Given the description of an element on the screen output the (x, y) to click on. 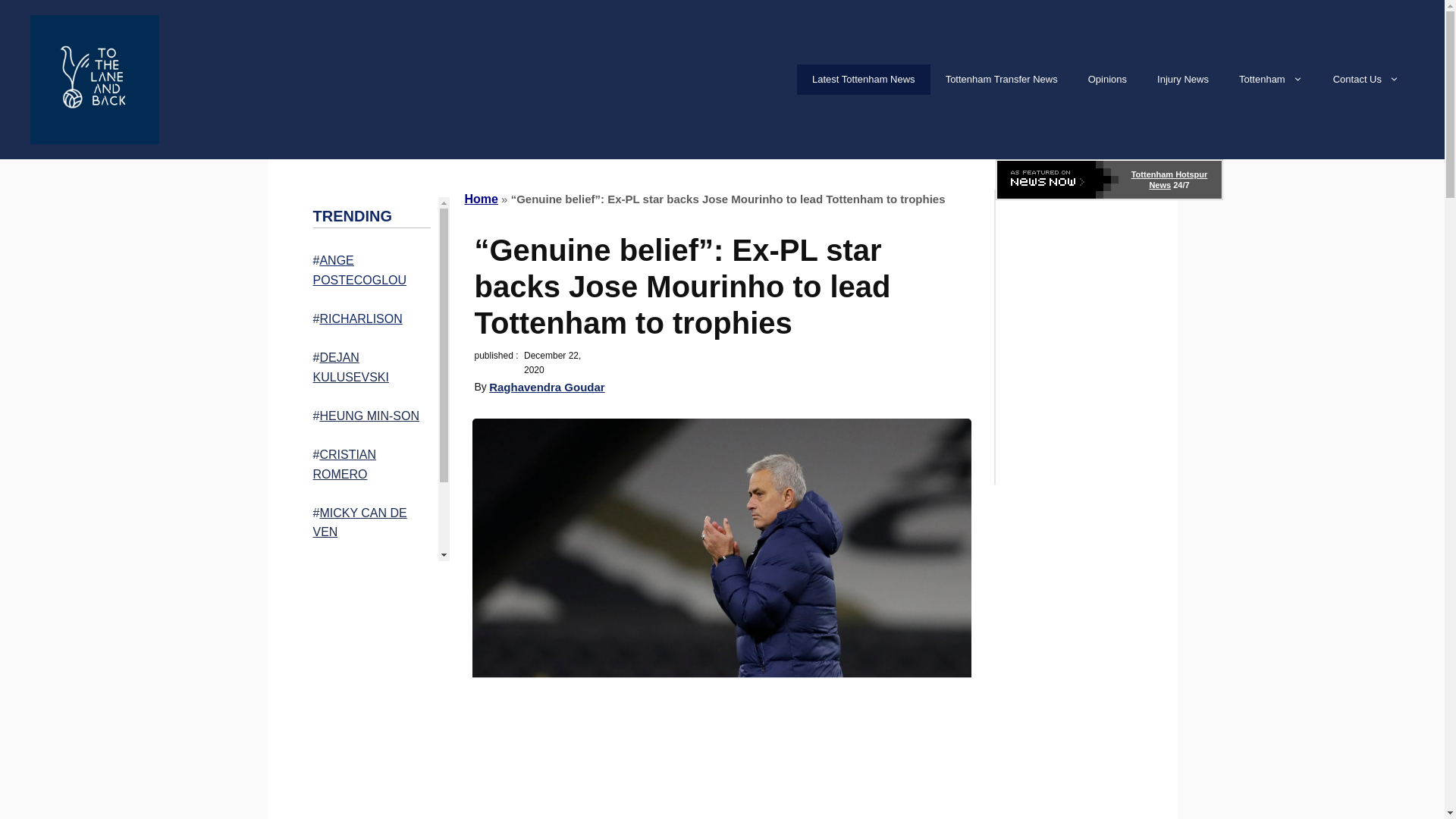
Contact Us (1365, 79)
RICHARLISON (359, 318)
ARCHIE GRAY (366, 611)
DEJAN KULUSEVSKI (350, 367)
MICKY CAN DE VEN (359, 522)
Raghavendra Goudar (547, 386)
Opinions (1107, 79)
ANGE POSTECOGLOU (359, 269)
RADU DRAGUSIN (369, 570)
Click here for more Tottenham Hotspur news from NewsNow (1108, 178)
Injury News (1182, 79)
Tottenham Transfer News (1001, 79)
Home (480, 198)
Tottenham (1270, 79)
Latest Tottenham News (863, 79)
